Given the description of an element on the screen output the (x, y) to click on. 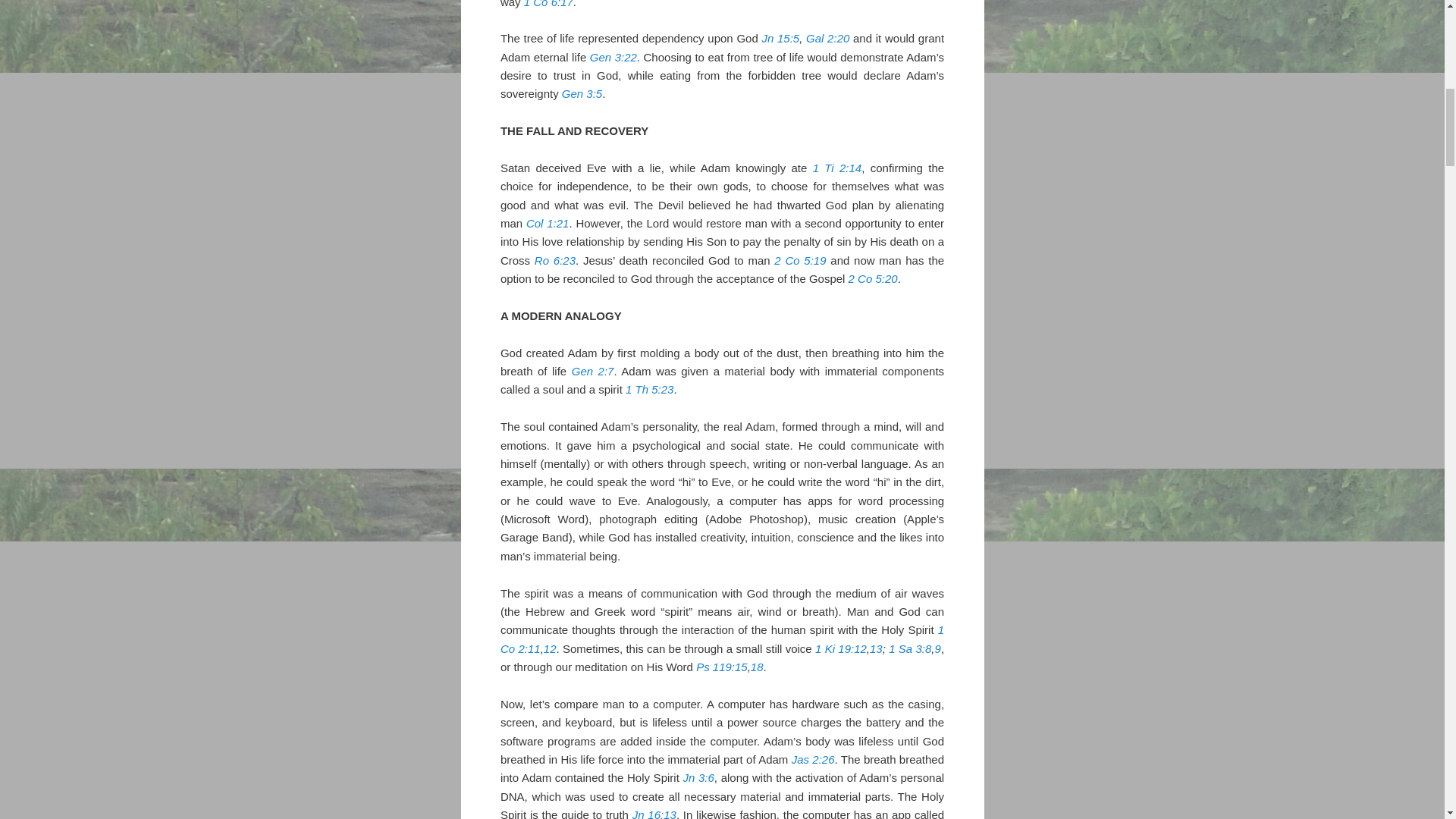
Gen 3:5 (582, 92)
18 (756, 666)
Gen 3:22 (613, 56)
Gal 2:20 (827, 38)
12 (549, 648)
Jas 2:26 (813, 758)
Jn 3:6 (697, 777)
Ps 119:15 (721, 666)
1 Th 5:23 (649, 389)
Ro 6:23 (554, 259)
1 Sa 3:8 (909, 648)
Jn 15:5 (780, 38)
1 Ti 2:14 (836, 167)
2 Co 5:19 (799, 259)
1 Co 2:11 (721, 638)
